Given the description of an element on the screen output the (x, y) to click on. 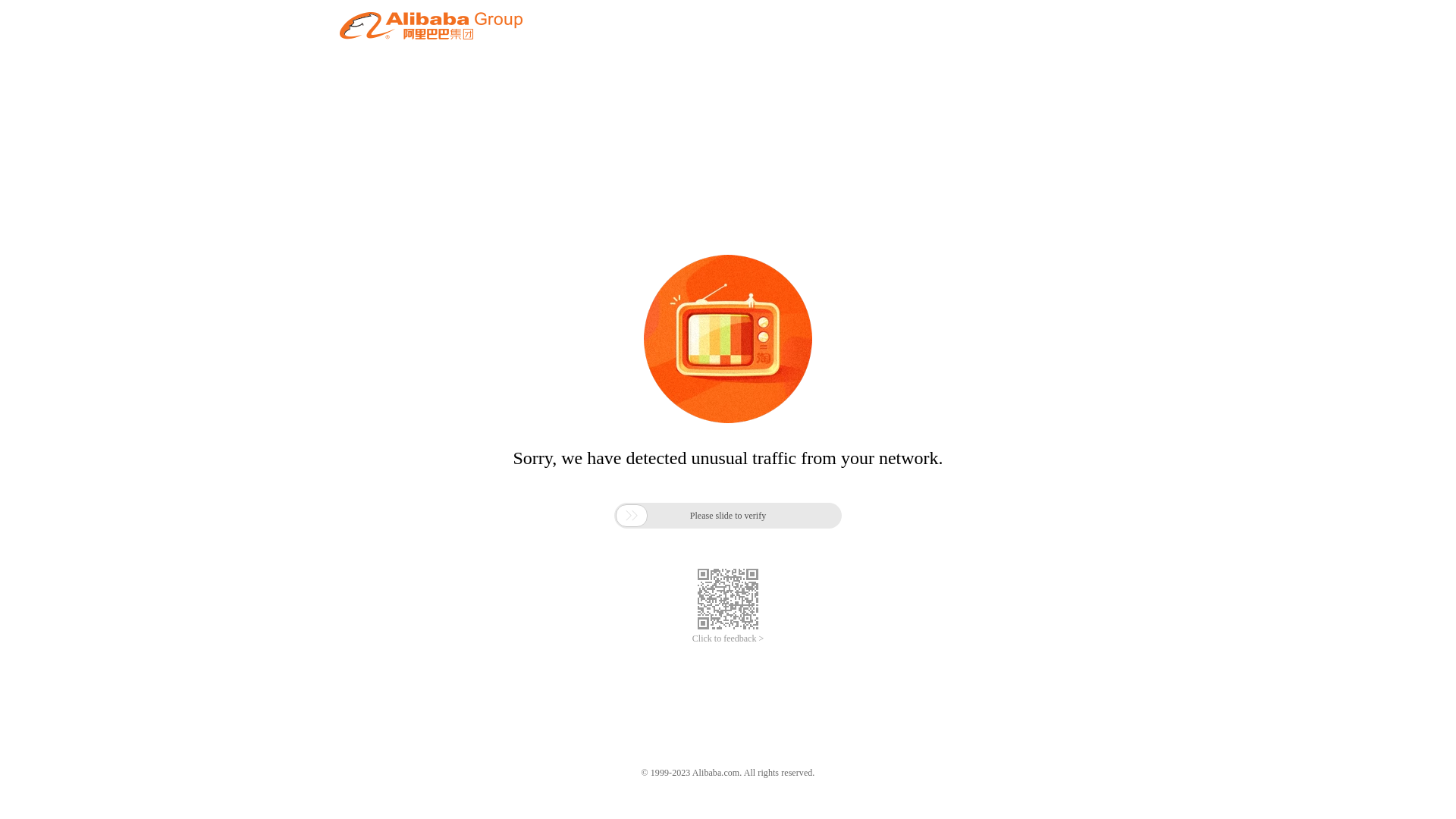
Click to feedback > Element type: text (727, 638)
